Given the description of an element on the screen output the (x, y) to click on. 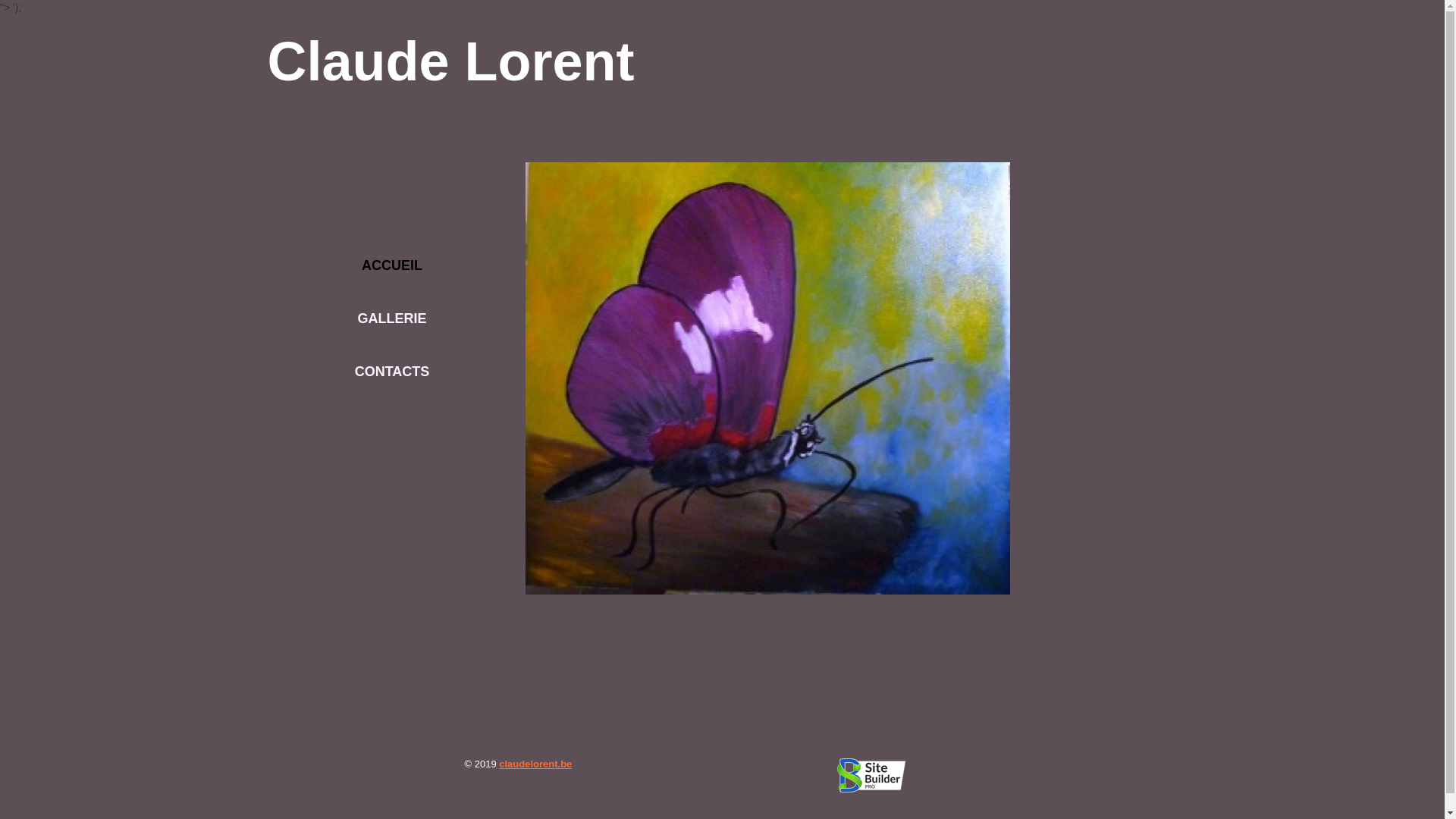
CONTACTS Element type: text (394, 371)
ACCUEIL Element type: text (393, 265)
claudelorent.be Element type: text (534, 763)
GALLERIE Element type: text (393, 318)
